Given the description of an element on the screen output the (x, y) to click on. 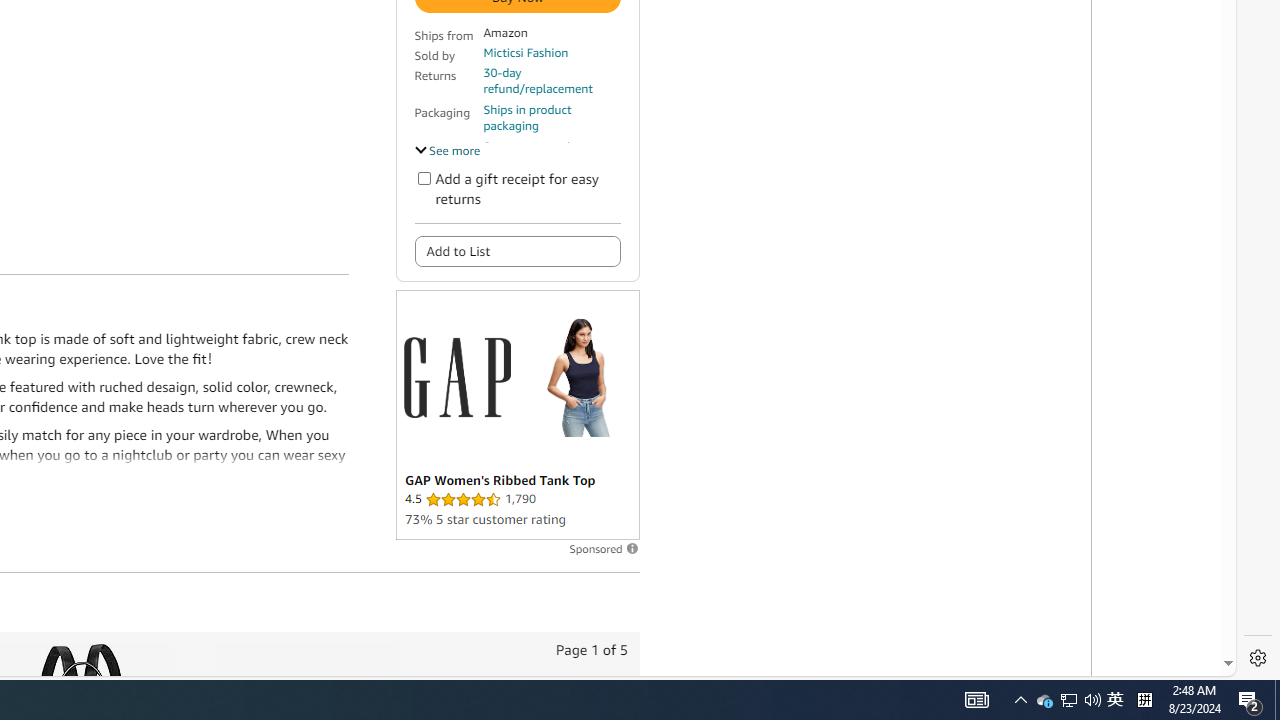
Ships in product packaging (551, 117)
Sponsored ad (516, 414)
Micticsi Fashion (525, 51)
Secure transaction (533, 146)
GAP Women's Ribbed Tank Top (577, 377)
Logo (456, 376)
Add to List (516, 250)
Add a gift receipt for easy returns (424, 178)
30-day refund/replacement (551, 80)
